Given the description of an element on the screen output the (x, y) to click on. 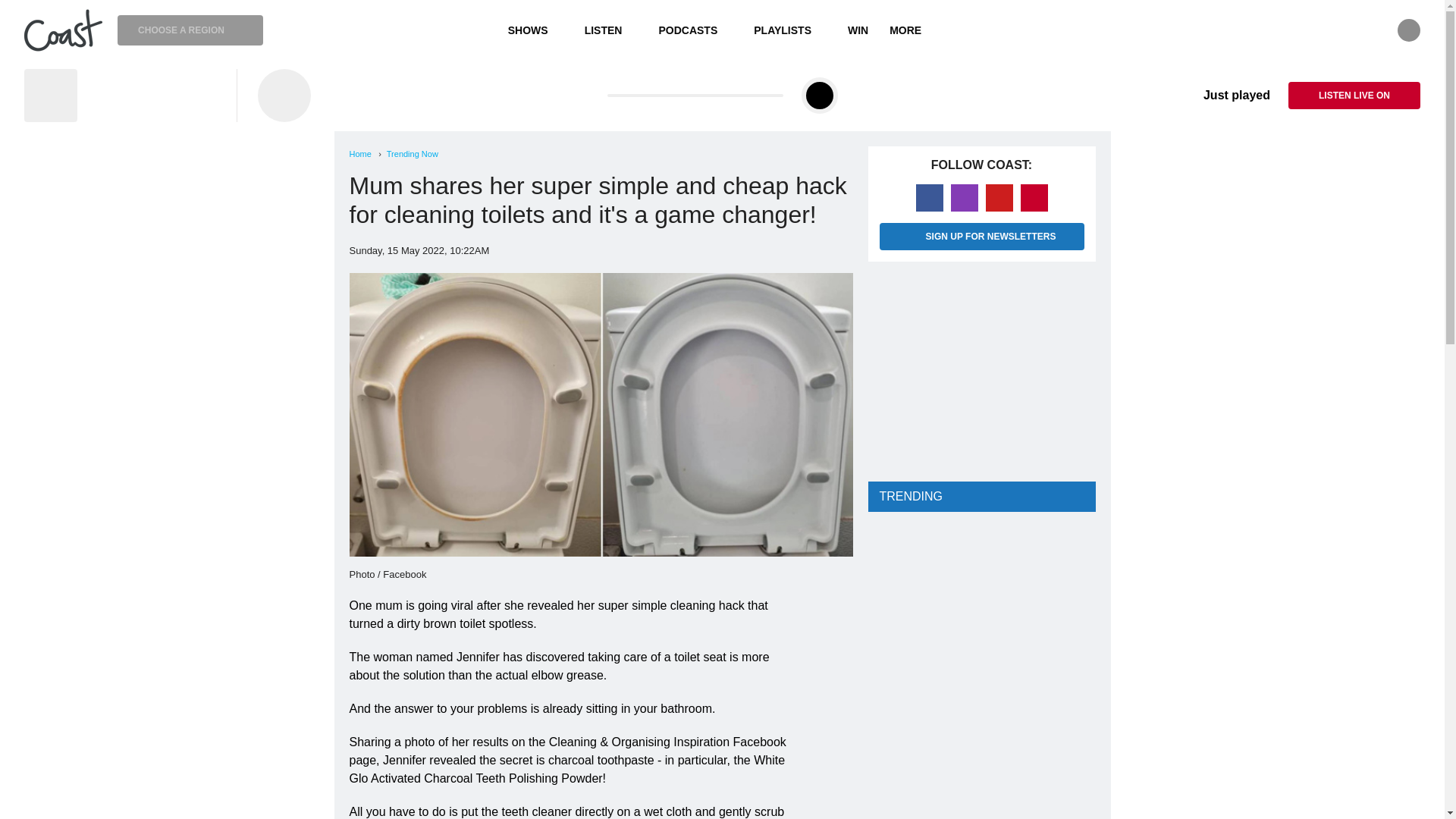
Facebook (929, 197)
Just played (1225, 95)
CHOOSE A REGION (190, 30)
Instagram (964, 197)
LISTEN (610, 30)
SHOWS (535, 30)
Youtube (999, 197)
iHeart (1034, 197)
Coast (62, 29)
